Given the description of an element on the screen output the (x, y) to click on. 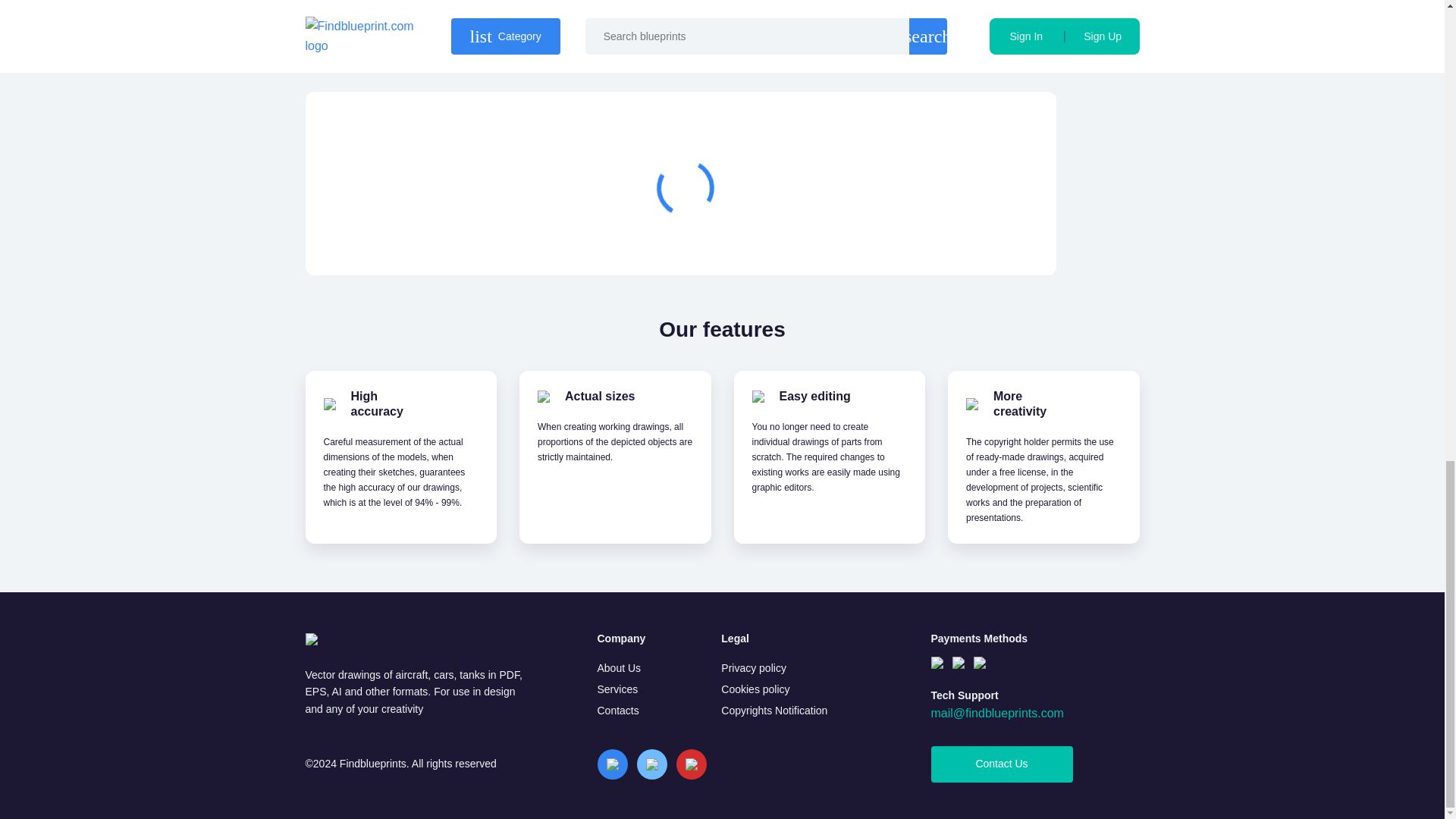
About Us (619, 667)
More (962, 238)
Privacy policy (753, 667)
Contacts (617, 710)
Cookies policy (754, 689)
Copyrights Notification (773, 710)
Services (617, 689)
Contact Us (1002, 764)
